Given the description of an element on the screen output the (x, y) to click on. 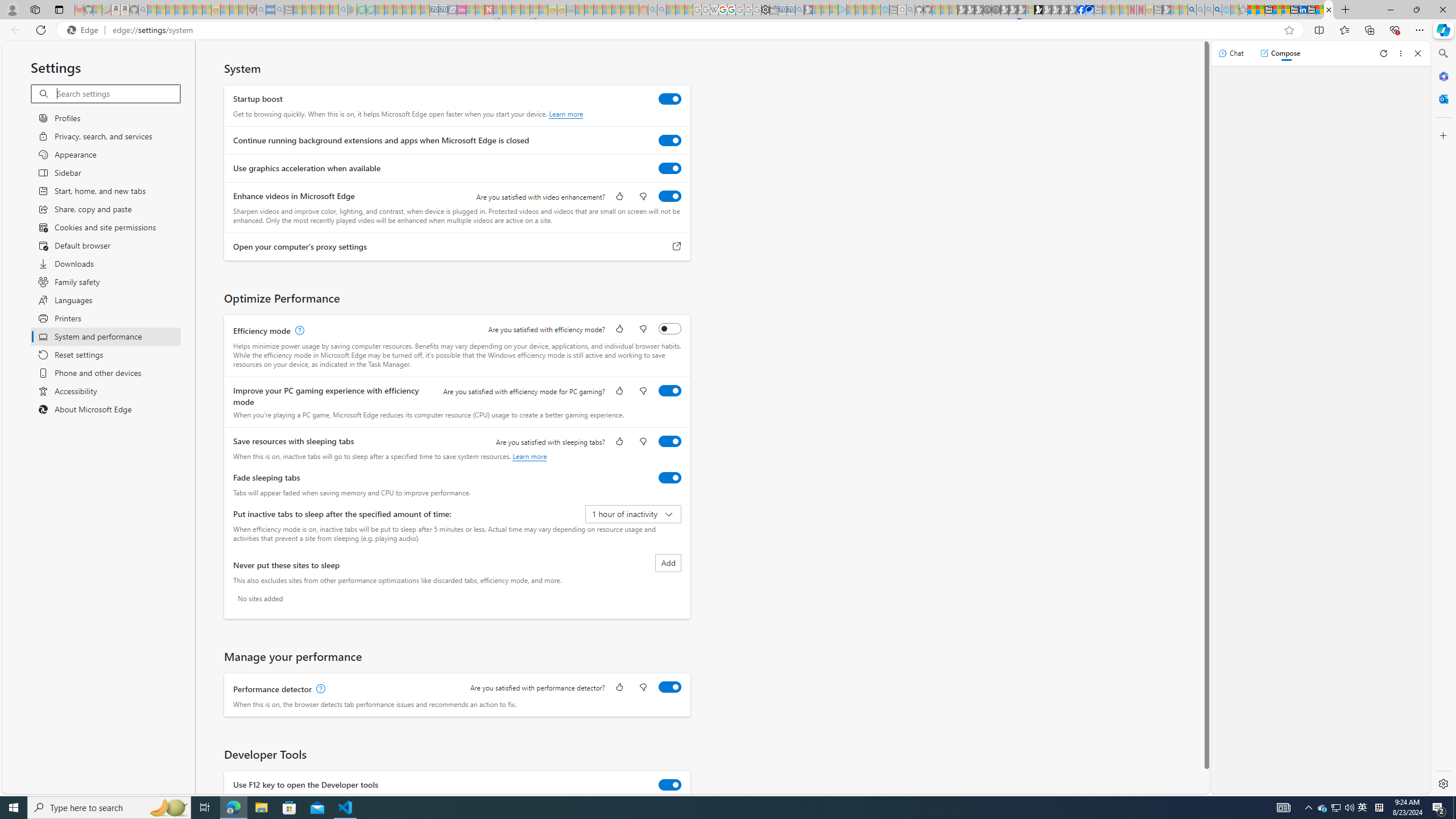
MSNBC - MSN - Sleeping (579, 9)
Privacy Help Center - Policies Help (722, 9)
Bing AI - Search (1191, 9)
Expert Portfolios - Sleeping (606, 9)
